Given the description of an element on the screen output the (x, y) to click on. 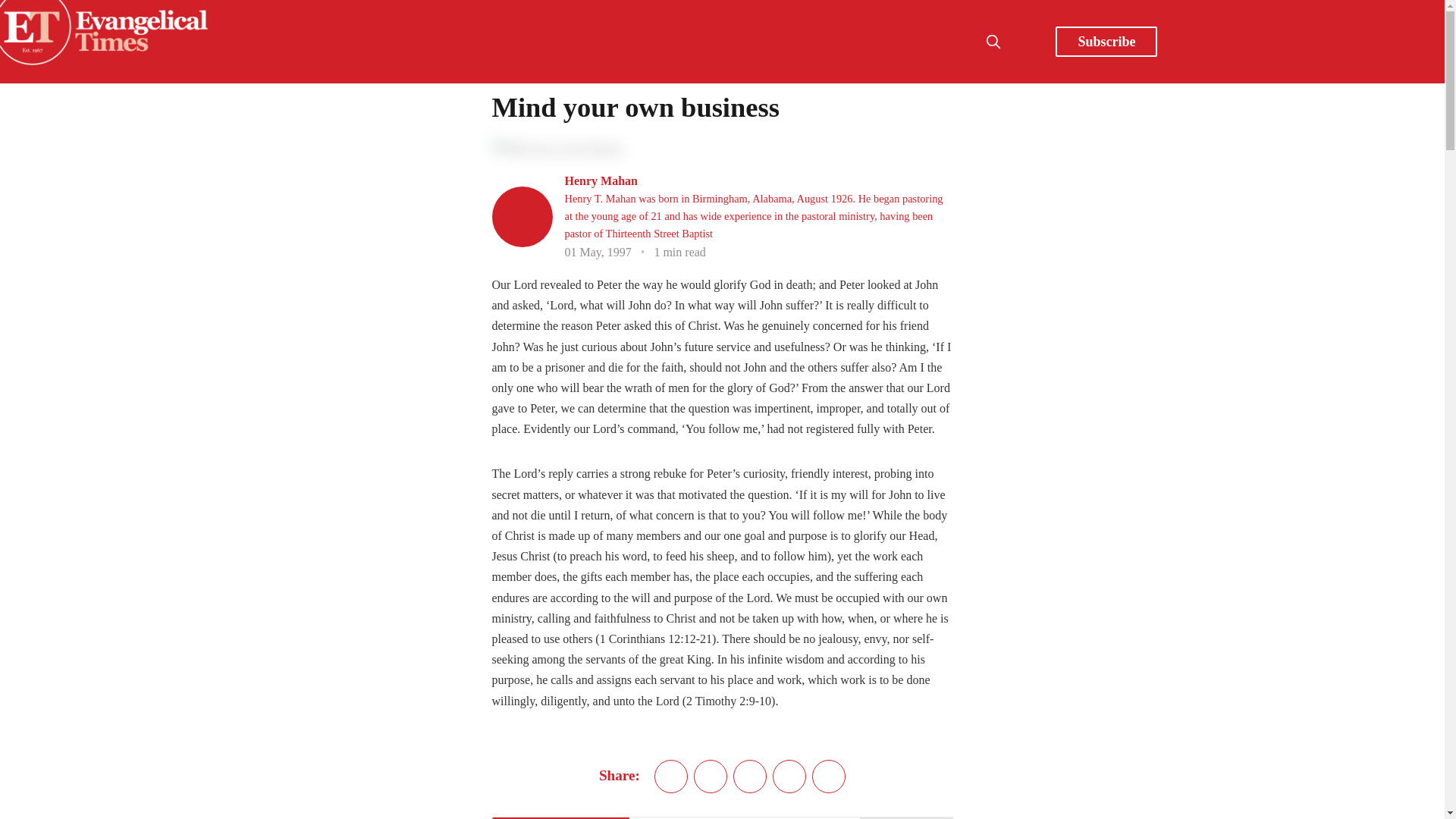
Open Menu (1026, 41)
Share on Linkedin (750, 776)
Copy to clipboard (828, 776)
Share on Twitter (670, 776)
Share on Facebook (710, 776)
Share by email (789, 776)
Henry Mahan (600, 180)
Subscribe (1106, 41)
